Given the description of an element on the screen output the (x, y) to click on. 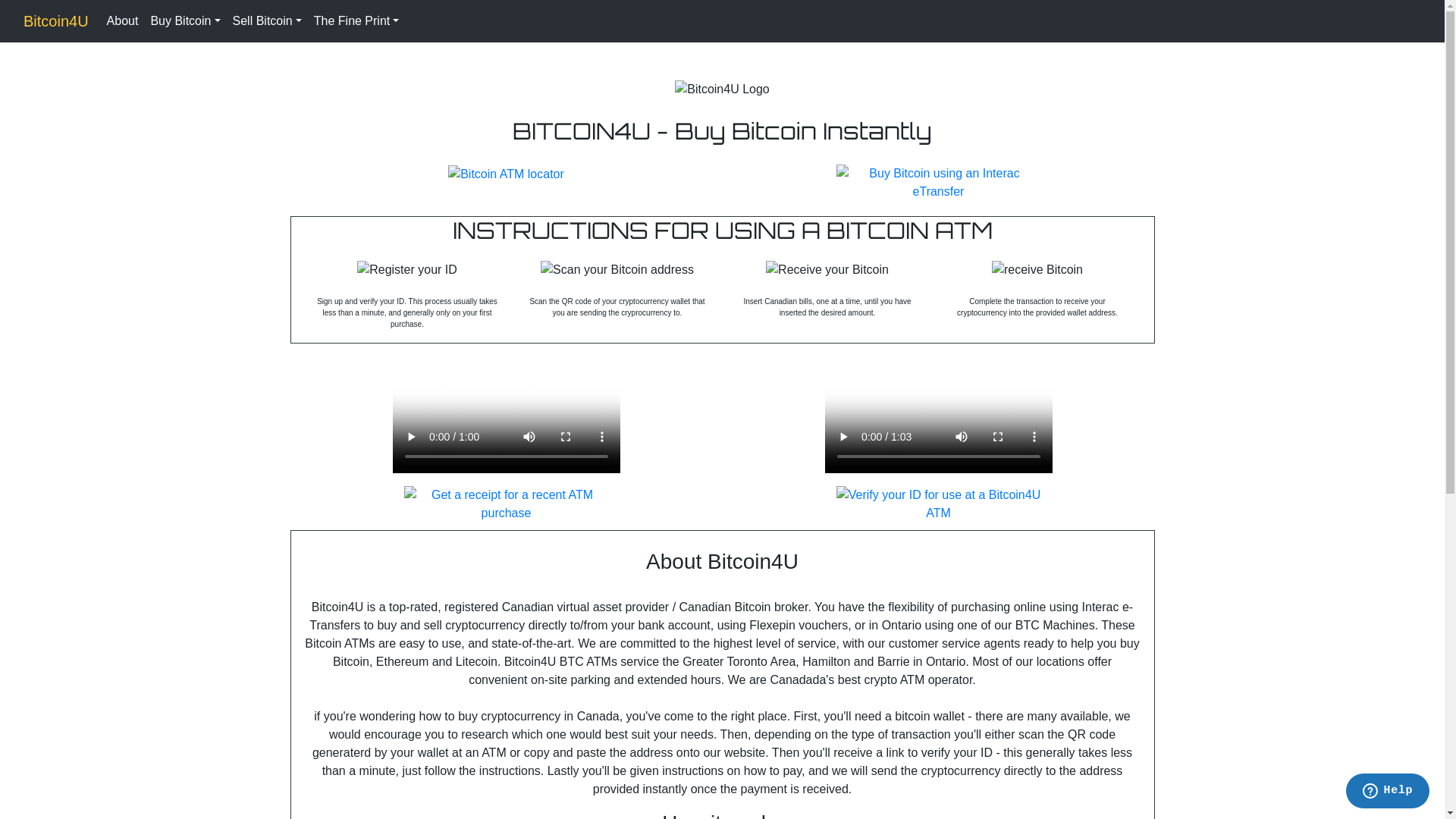
About Element type: text (122, 21)
Buy Bitcoin Element type: text (184, 21)
Sell Bitcoin Element type: text (266, 21)
Bitcoin4U Element type: text (55, 21)
The Fine Print Element type: text (356, 21)
Opens a widget where you can find more information Element type: hover (1387, 792)
